Given the description of an element on the screen output the (x, y) to click on. 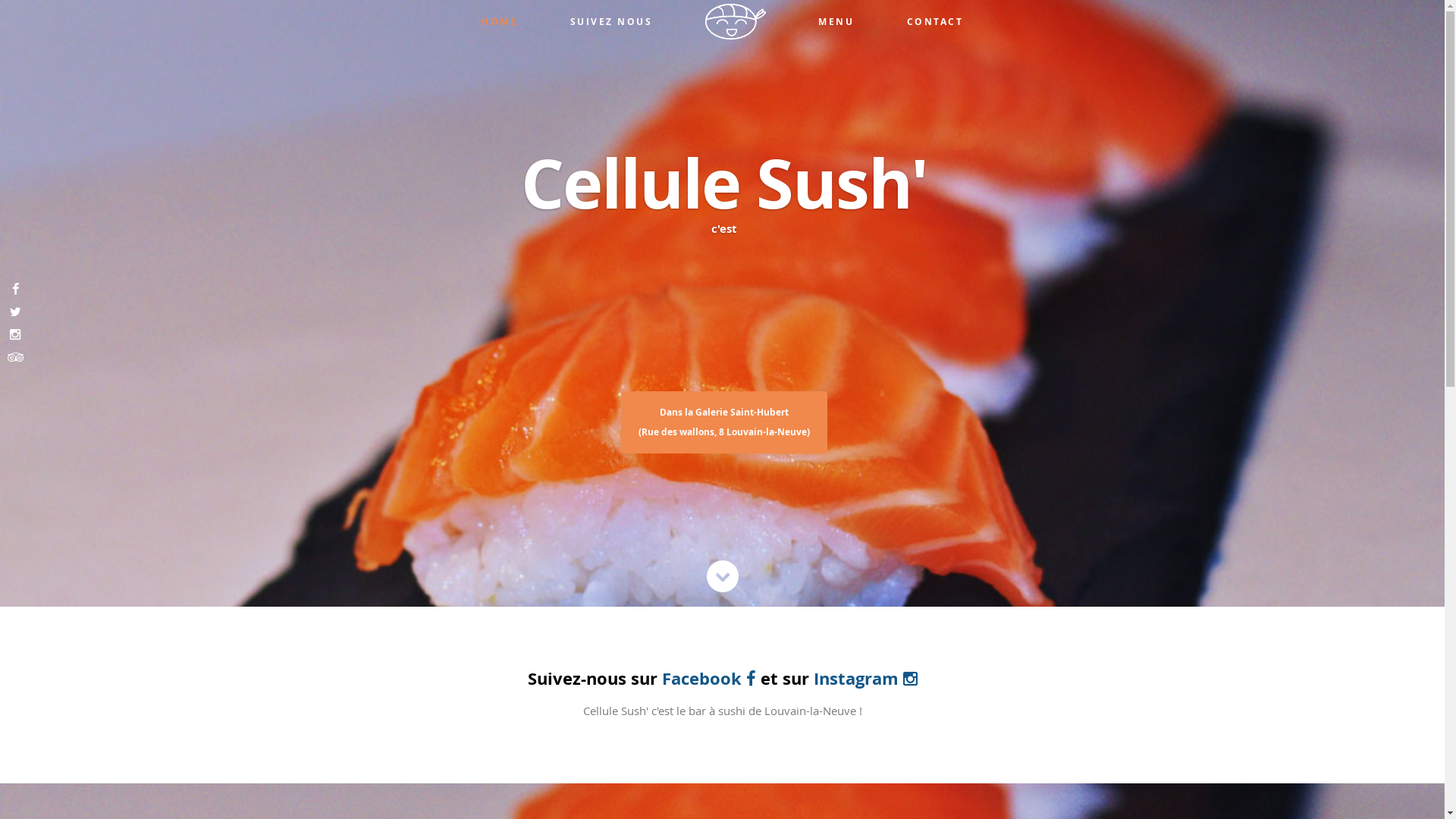
Instagram  Element type: text (864, 678)
MENU Element type: text (835, 17)
HOME Element type: text (499, 17)
SUIVEZ NOUS Element type: text (611, 17)
Facebook  Element type: text (708, 678)
CONTACT Element type: text (935, 17)
